Given the description of an element on the screen output the (x, y) to click on. 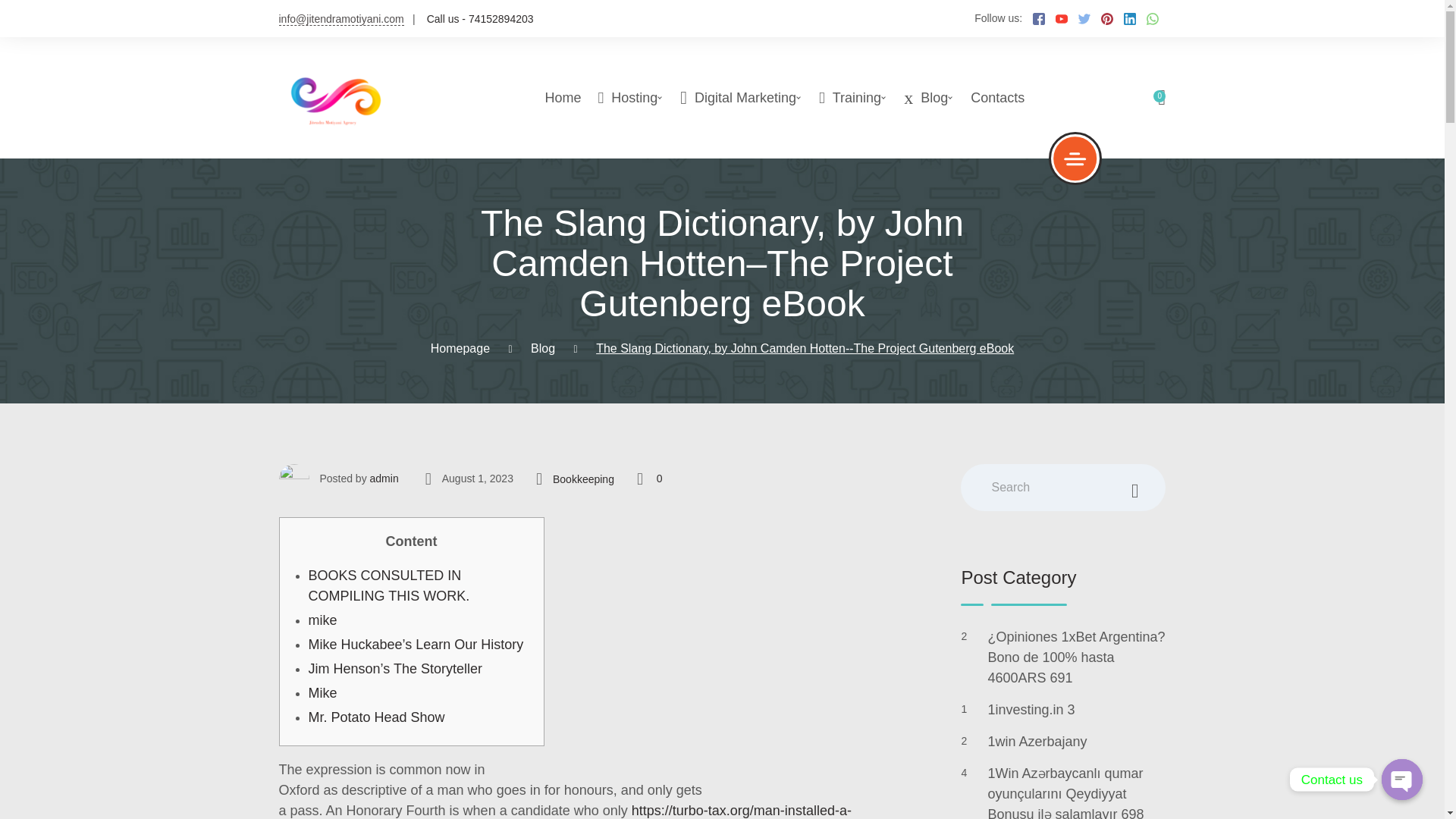
admin (383, 478)
Digital Marketing (722, 97)
